Given the description of an element on the screen output the (x, y) to click on. 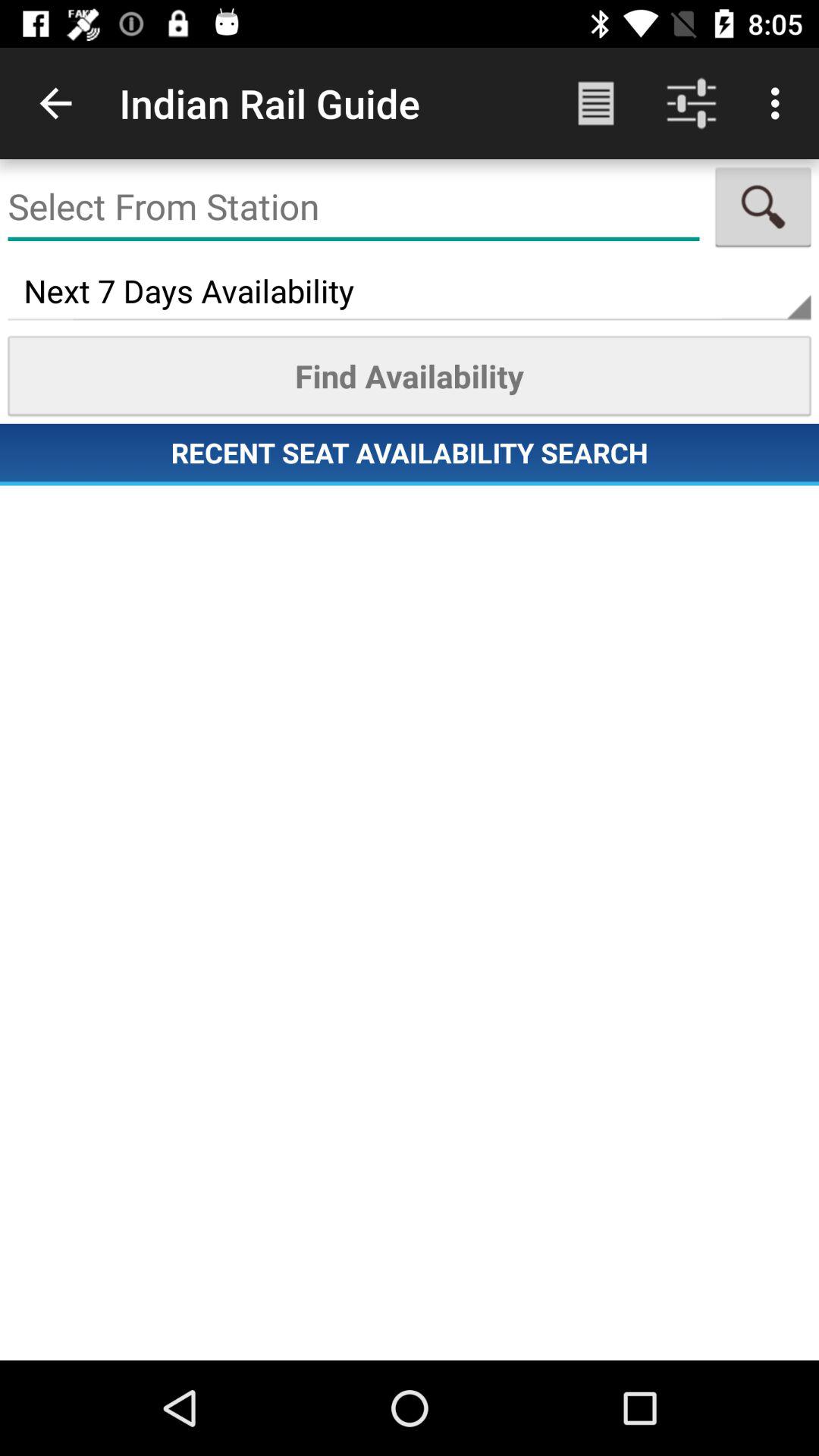
press item above the next 7 days icon (763, 206)
